Given the description of an element on the screen output the (x, y) to click on. 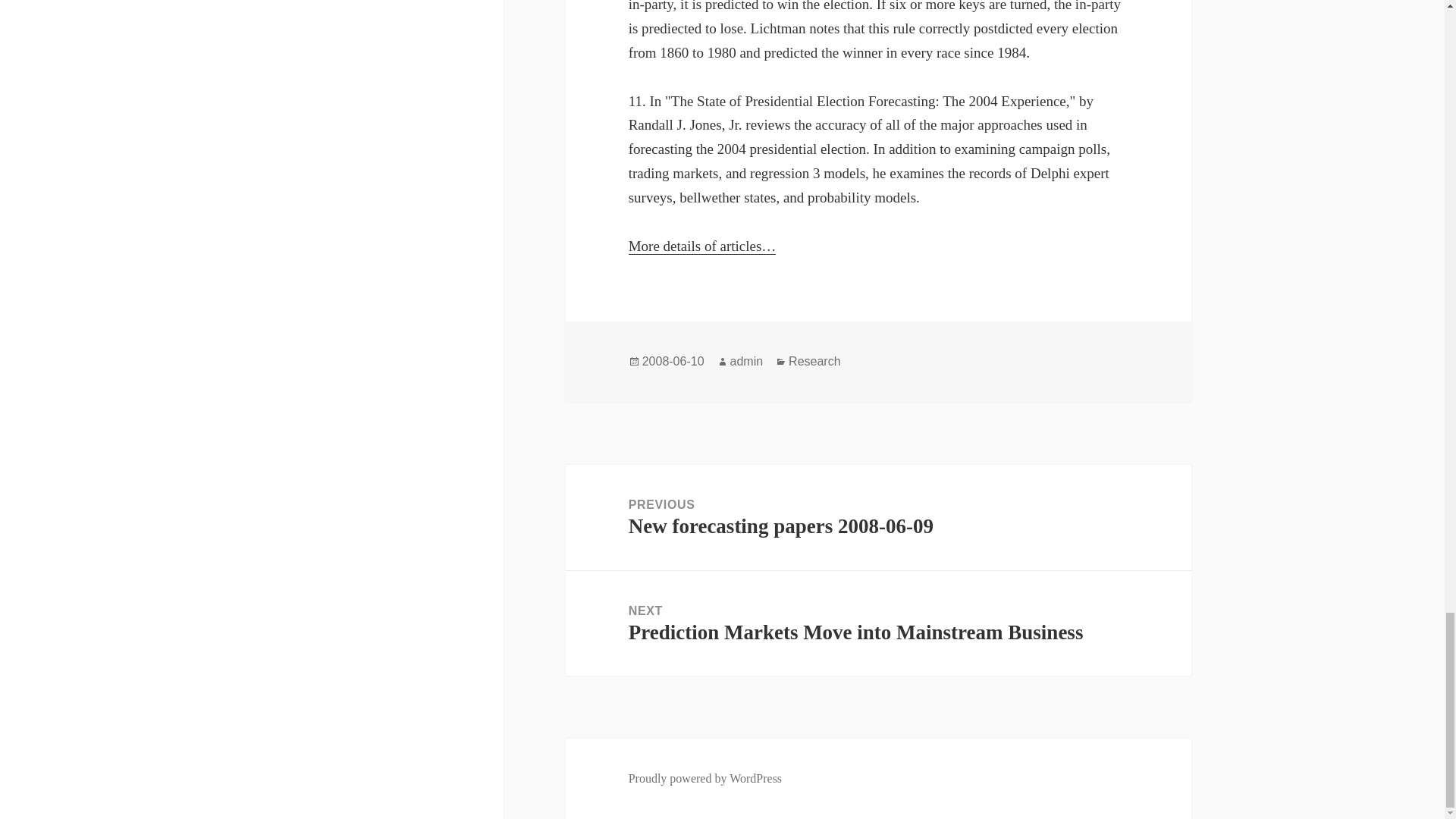
Proudly powered by WordPress (704, 778)
Research (814, 361)
admin (746, 361)
2008-06-10 (878, 517)
